Given the description of an element on the screen output the (x, y) to click on. 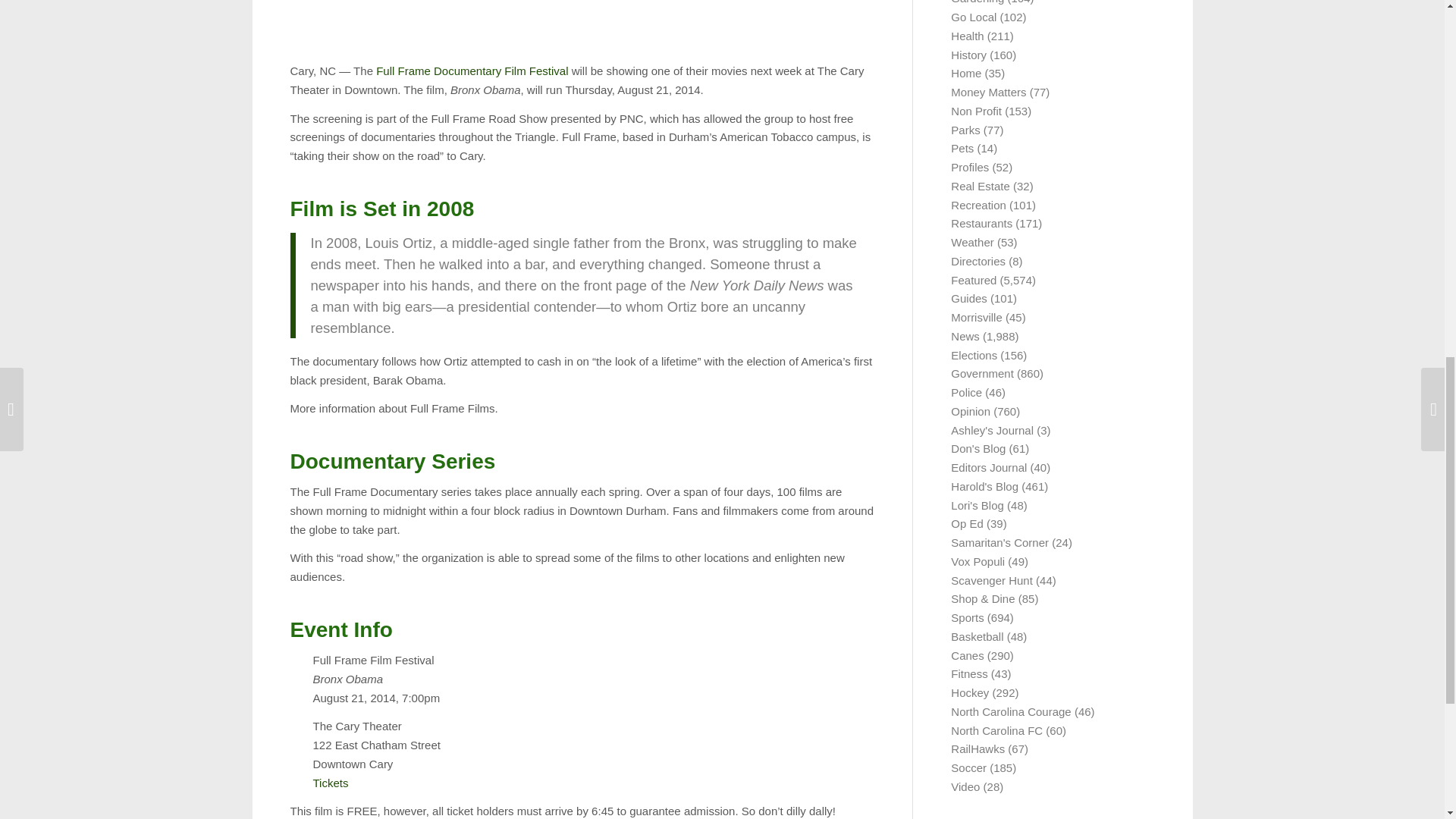
Tickets (330, 782)
Full Frame Road show tickets (330, 782)
Full Frame Documentary festival (471, 70)
Full Frame Documentary Film Festival (471, 70)
